Given the description of an element on the screen output the (x, y) to click on. 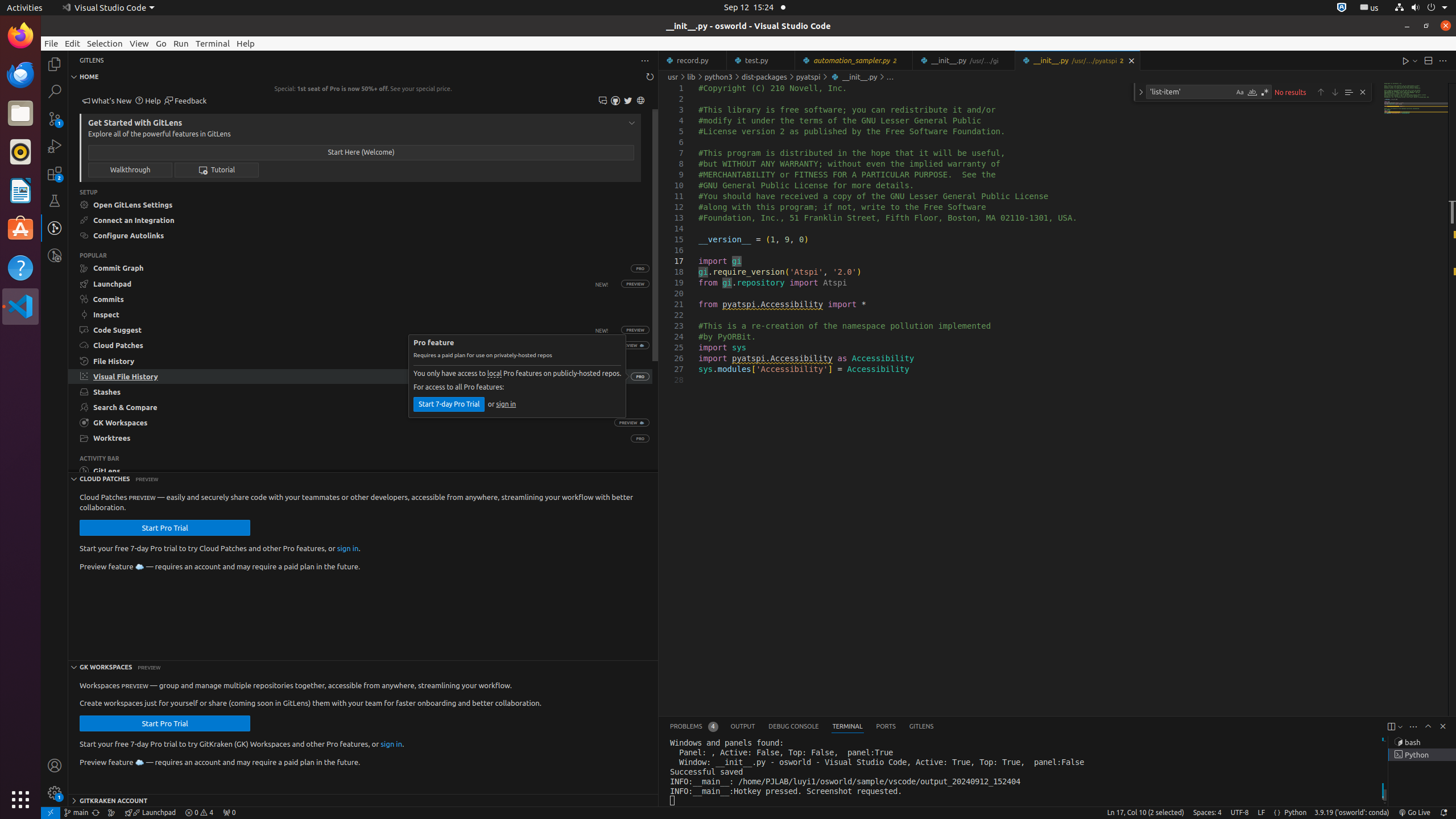
More Actions... Element type: push-button (1442, 60)
Editor Language Status: Auto Import Completions: false Element type: push-button (1277, 812)
__init__.py Element type: page-tab (1077, 60)
OSWorld (Git) - Synchronize Changes Element type: push-button (95, 812)
